Given the description of an element on the screen output the (x, y) to click on. 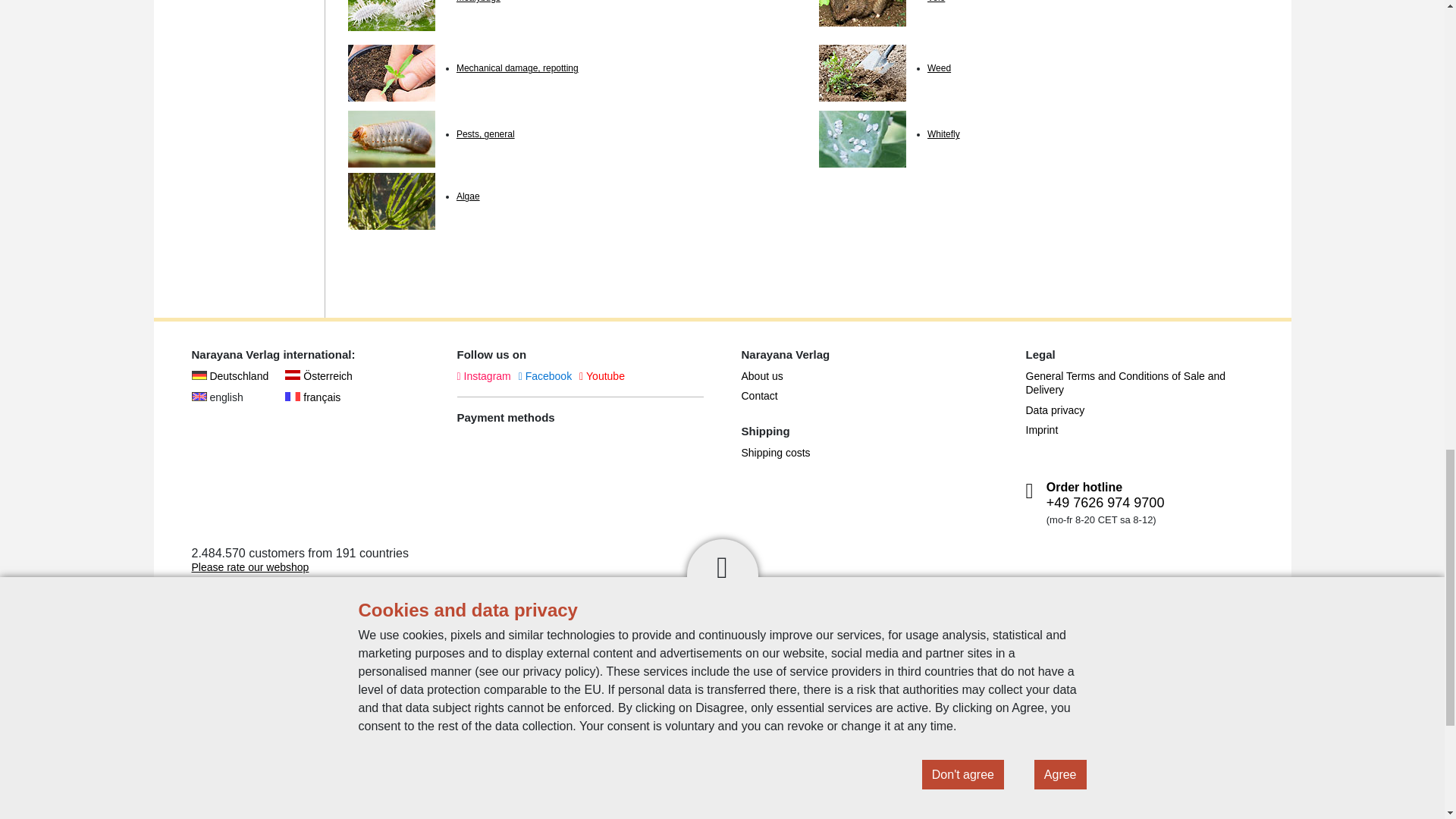
5 out of 5 Stars (242, 588)
